Given the description of an element on the screen output the (x, y) to click on. 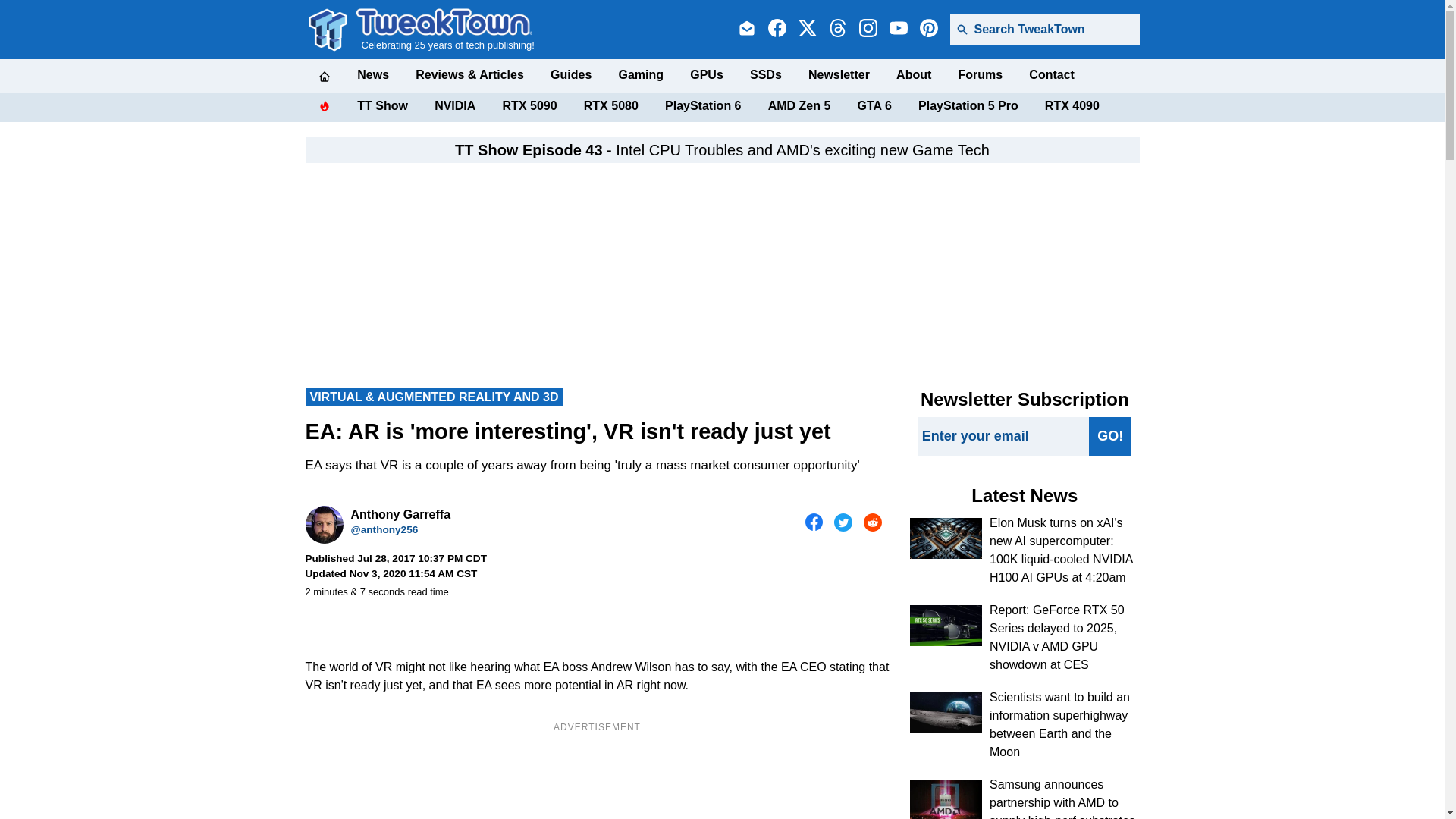
GO! (1110, 435)
Celebrating 25 years of tech publishing! (445, 29)
Share on Facebook (814, 522)
Anthony Garreffa (323, 524)
Share on Reddit (871, 522)
Share on Twitter (842, 522)
News (372, 74)
